Given the description of an element on the screen output the (x, y) to click on. 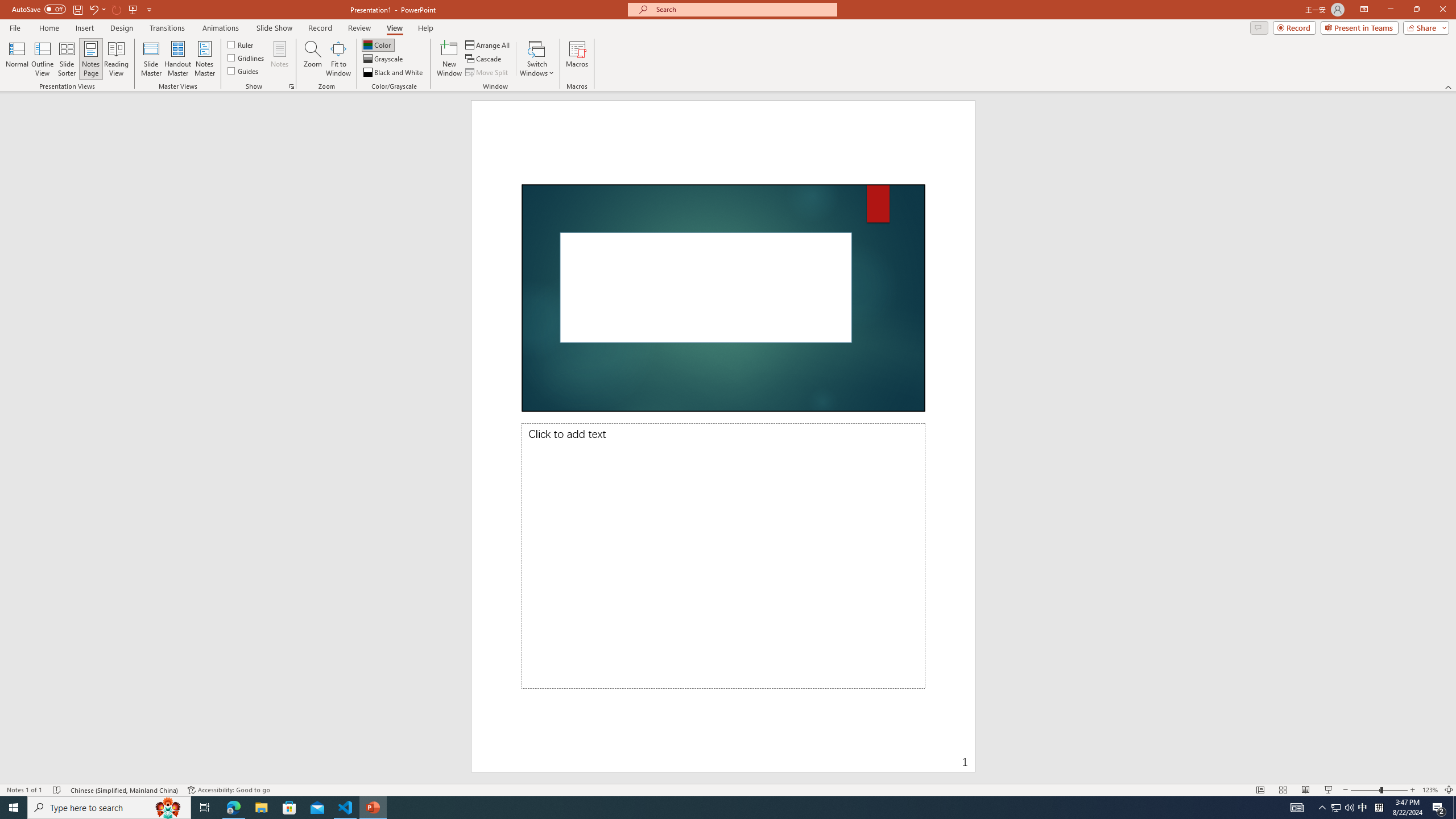
View (395, 28)
Move Split (487, 72)
Normal (1260, 790)
AutoSave (38, 9)
Home (48, 28)
Minimize (1390, 9)
More Options (103, 9)
Ruler (241, 44)
Comments (1259, 27)
Customize Quick Access Toolbar (149, 9)
Zoom Out (1365, 790)
Outline View (42, 58)
Slide Show (273, 28)
Zoom... (312, 58)
